Given the description of an element on the screen output the (x, y) to click on. 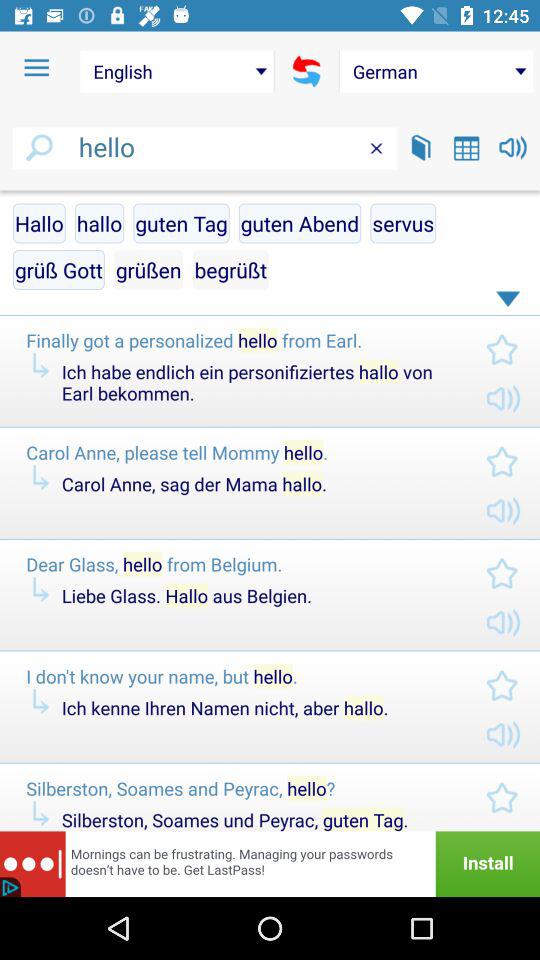
select advertisement for more info (270, 864)
